Given the description of an element on the screen output the (x, y) to click on. 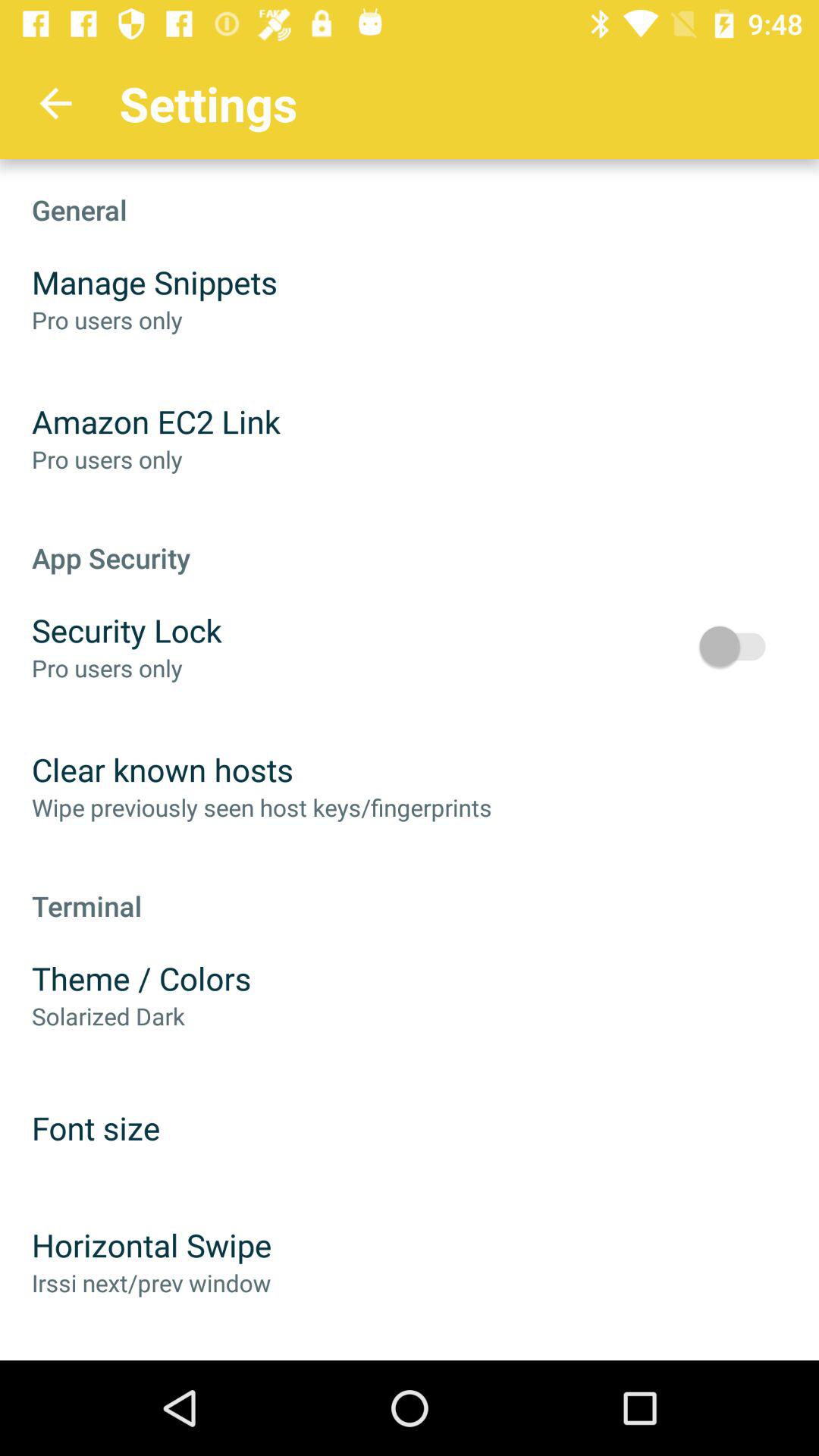
scroll to app security icon (409, 541)
